Given the description of an element on the screen output the (x, y) to click on. 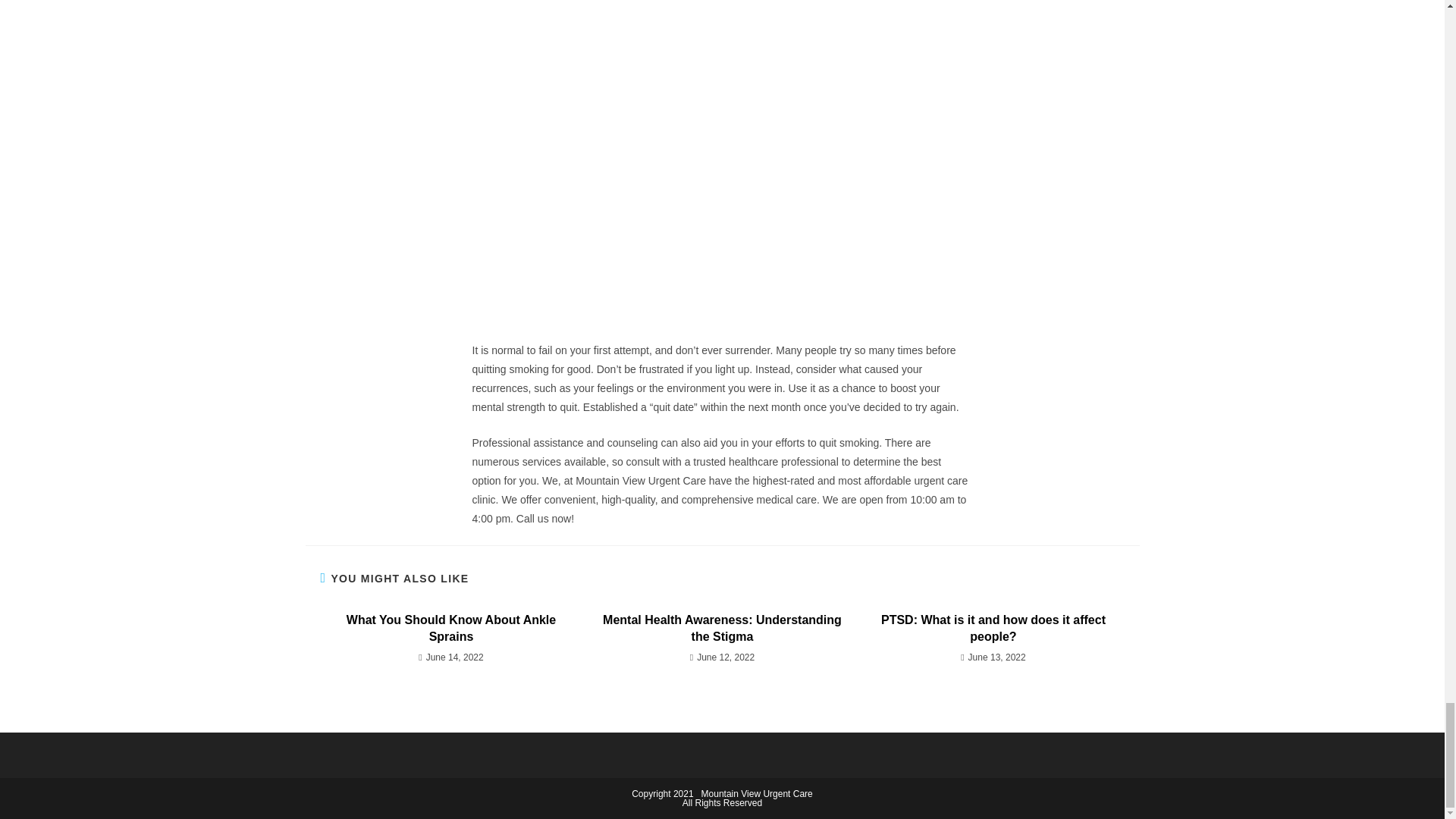
What You Should Know About Ankle Sprains (450, 628)
Mental Health Awareness: Understanding the Stigma (721, 628)
PTSD: What is it and how does it affect people? (992, 628)
